Given the description of an element on the screen output the (x, y) to click on. 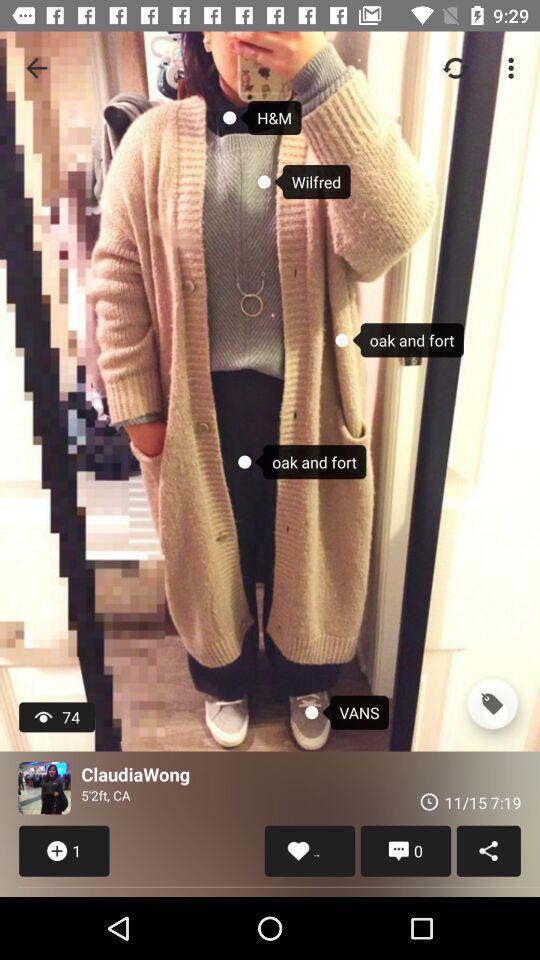
press icon next to the claudiawong item (44, 787)
